Given the description of an element on the screen output the (x, y) to click on. 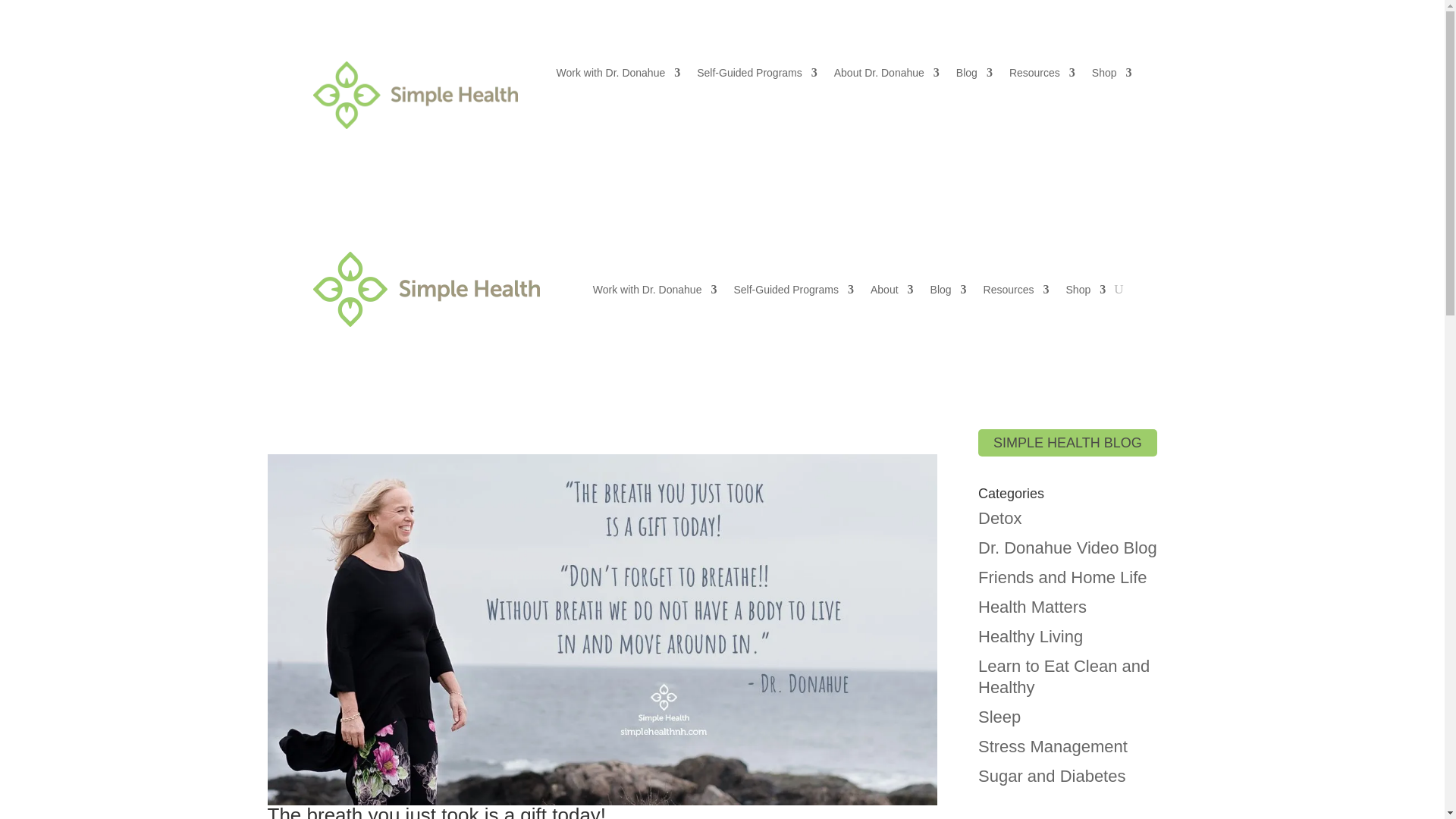
Work with Dr. Donahue (654, 288)
Resources (1042, 75)
Blog (974, 75)
Shop (1112, 75)
logo (414, 94)
About Dr. Donahue (886, 75)
Work with Dr. Donahue (618, 75)
Self-Guided Programs (756, 75)
